Given the description of an element on the screen output the (x, y) to click on. 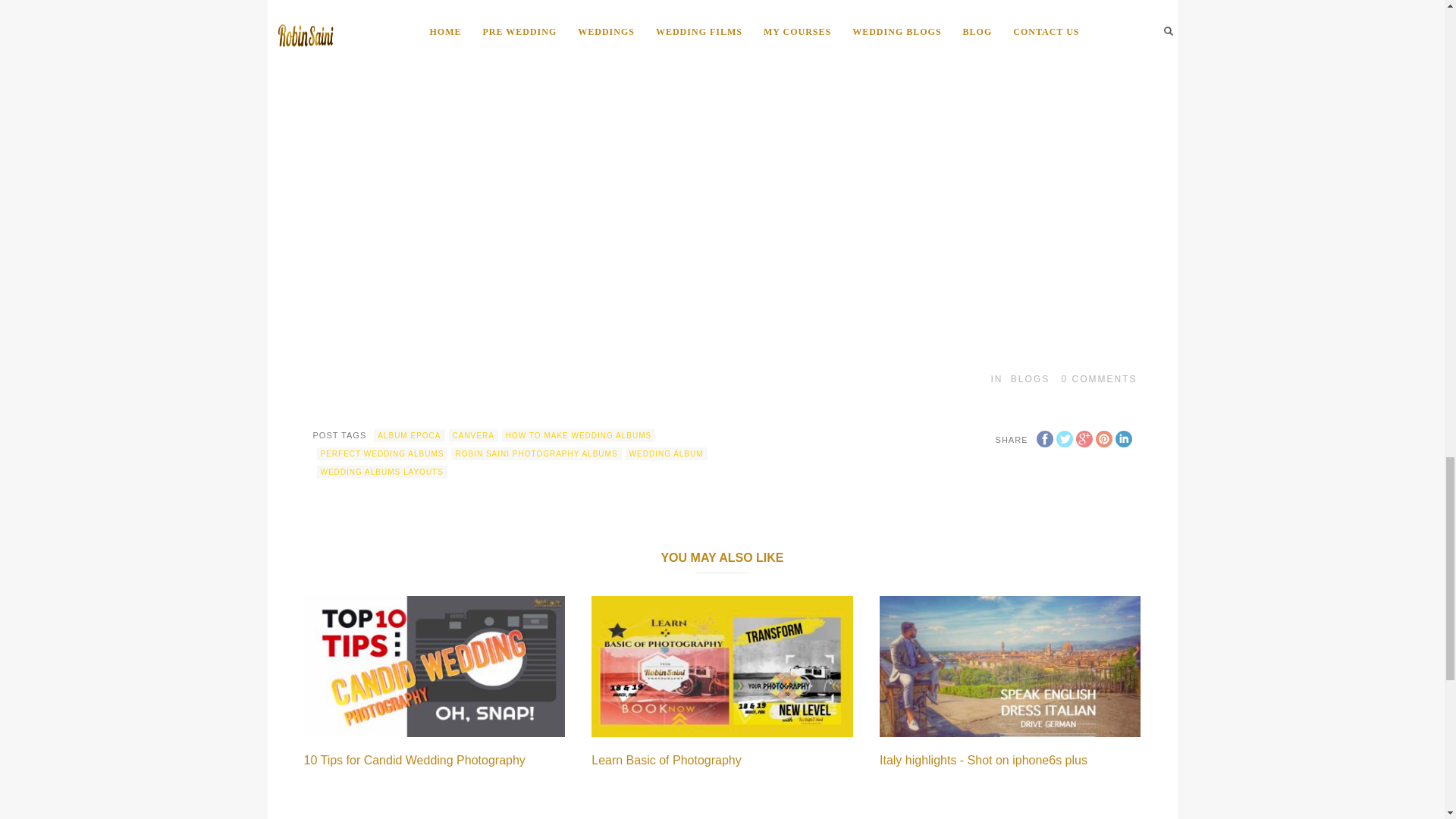
Twitter (1063, 438)
10 Tips for Candid Wedding Photography (413, 759)
Italy highlights - Shot on iphone6s plus (983, 759)
PERFECT WEDDING ALBUMS (382, 453)
0 COMMENTS (1099, 378)
WEDDING ALBUMS LAYOUTS (381, 472)
ALBUM EPOCA (409, 435)
Pinterest (1103, 438)
Learn Basic of Photography (666, 759)
LinkedIn (1123, 438)
HOW TO MAKE WEDDING ALBUMS (578, 435)
Facebook (1043, 438)
ROBIN SAINI PHOTOGRAPHY ALBUMS (536, 453)
CANVERA (472, 435)
WEDDING ALBUM (666, 453)
